Given the description of an element on the screen output the (x, y) to click on. 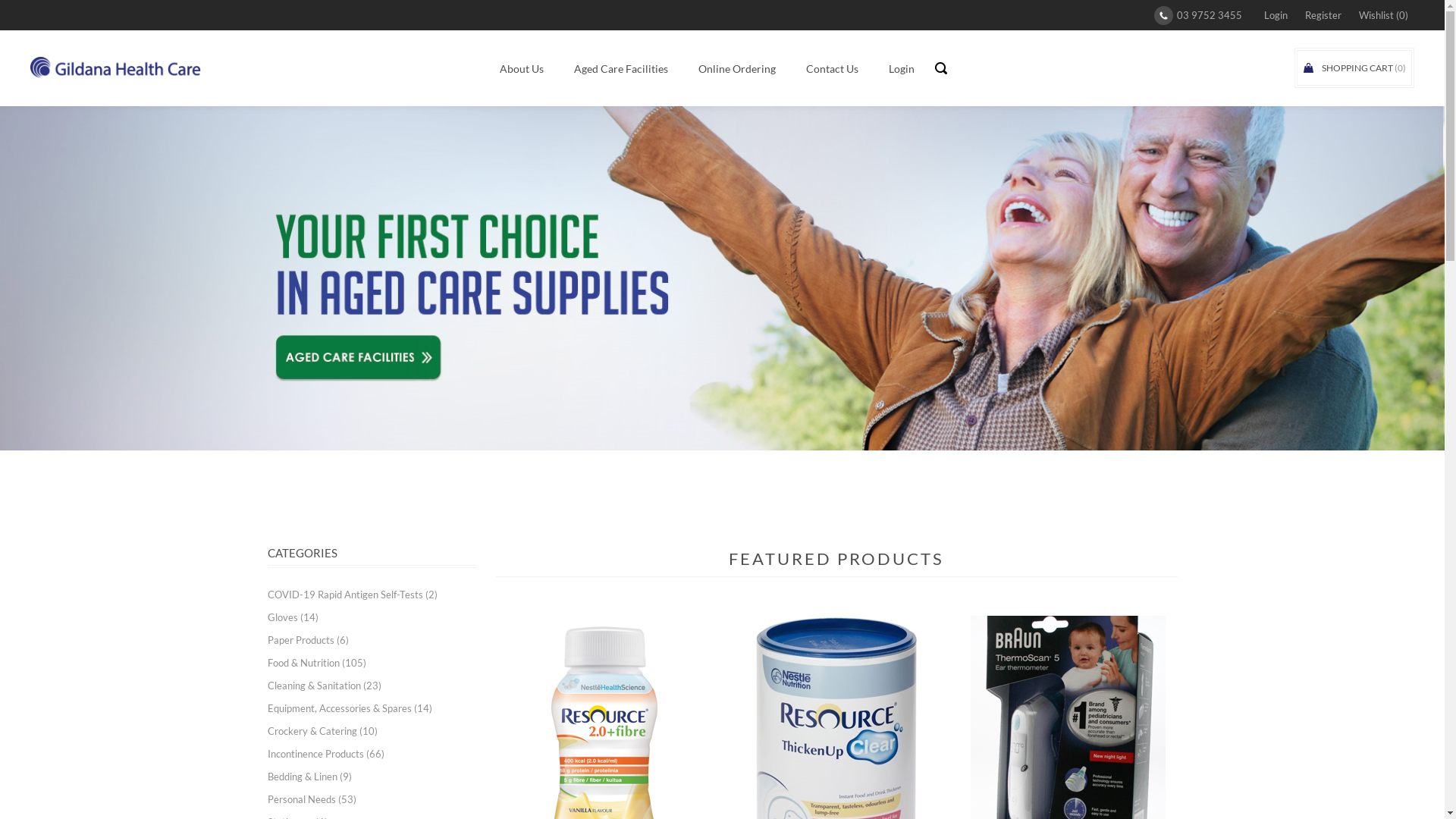
Bedding & Linen (9) Element type: text (308, 776)
Crockery & Catering (10) Element type: text (321, 730)
Food & Nutrition (105) Element type: text (315, 662)
Login Element type: text (1275, 15)
Equipment, Accessories & Spares (14) Element type: text (348, 707)
SHOPPING CART (0) Element type: text (1354, 67)
About Us Element type: text (521, 68)
03 9752 3455 Element type: text (1198, 15)
Paper Products (6) Element type: text (307, 639)
Wishlist (0) Element type: text (1383, 15)
Your first choice in Aged Care Supplies Element type: hover (722, 278)
Login Element type: text (901, 68)
Gildana Retail Element type: hover (115, 67)
Personal Needs (53) Element type: text (310, 798)
Incontinence Products (66) Element type: text (324, 753)
Gloves (14) Element type: text (291, 616)
COVID-19 Rapid Antigen Self-Tests (2) Element type: text (351, 594)
Cleaning & Sanitation (23) Element type: text (323, 685)
Aged Care Facilities Element type: text (620, 68)
Contact Us Element type: text (831, 68)
Register Element type: text (1323, 15)
Online Ordering Element type: text (736, 68)
